Given the description of an element on the screen output the (x, y) to click on. 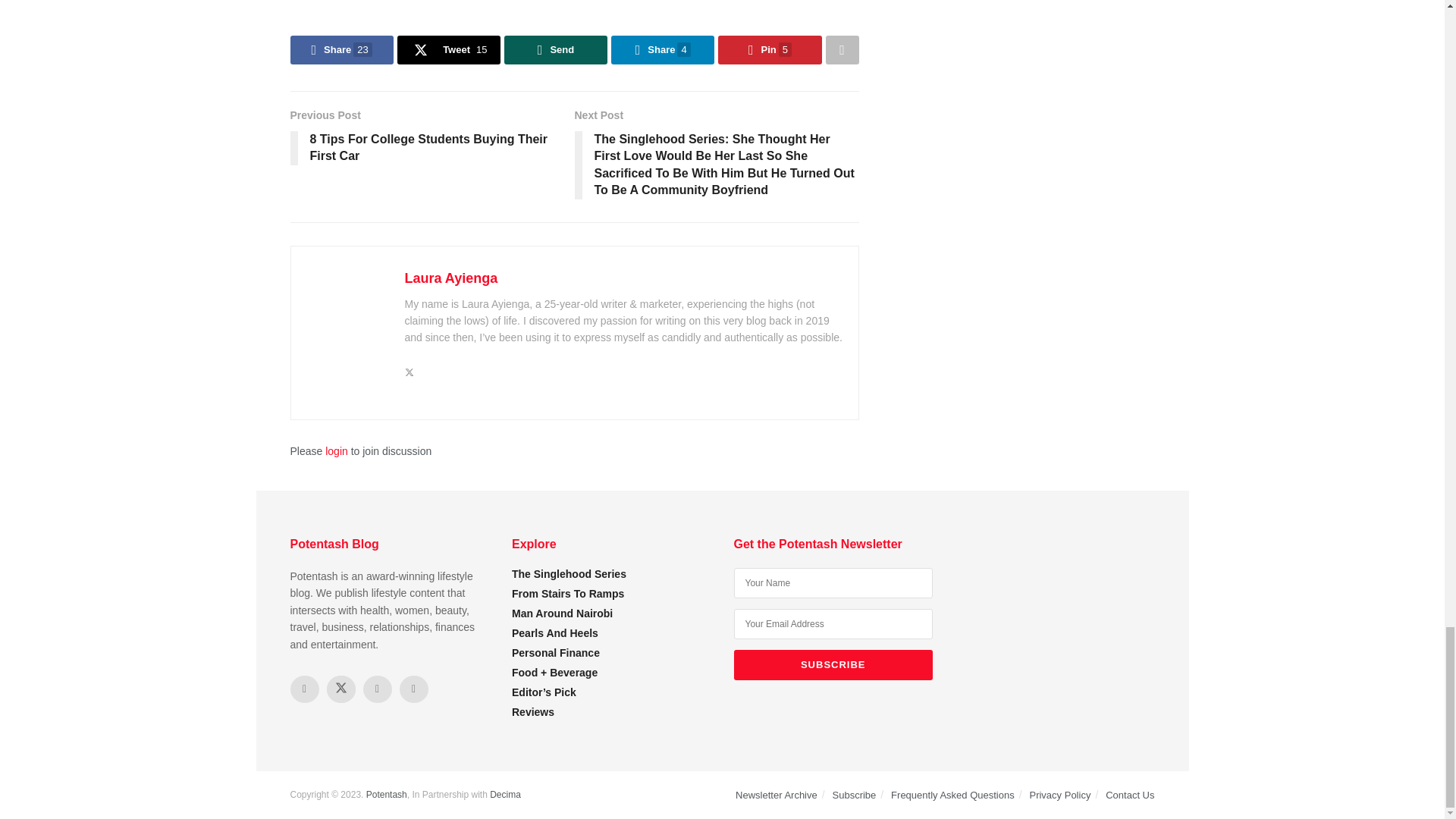
Subscribe (833, 665)
